Given the description of an element on the screen output the (x, y) to click on. 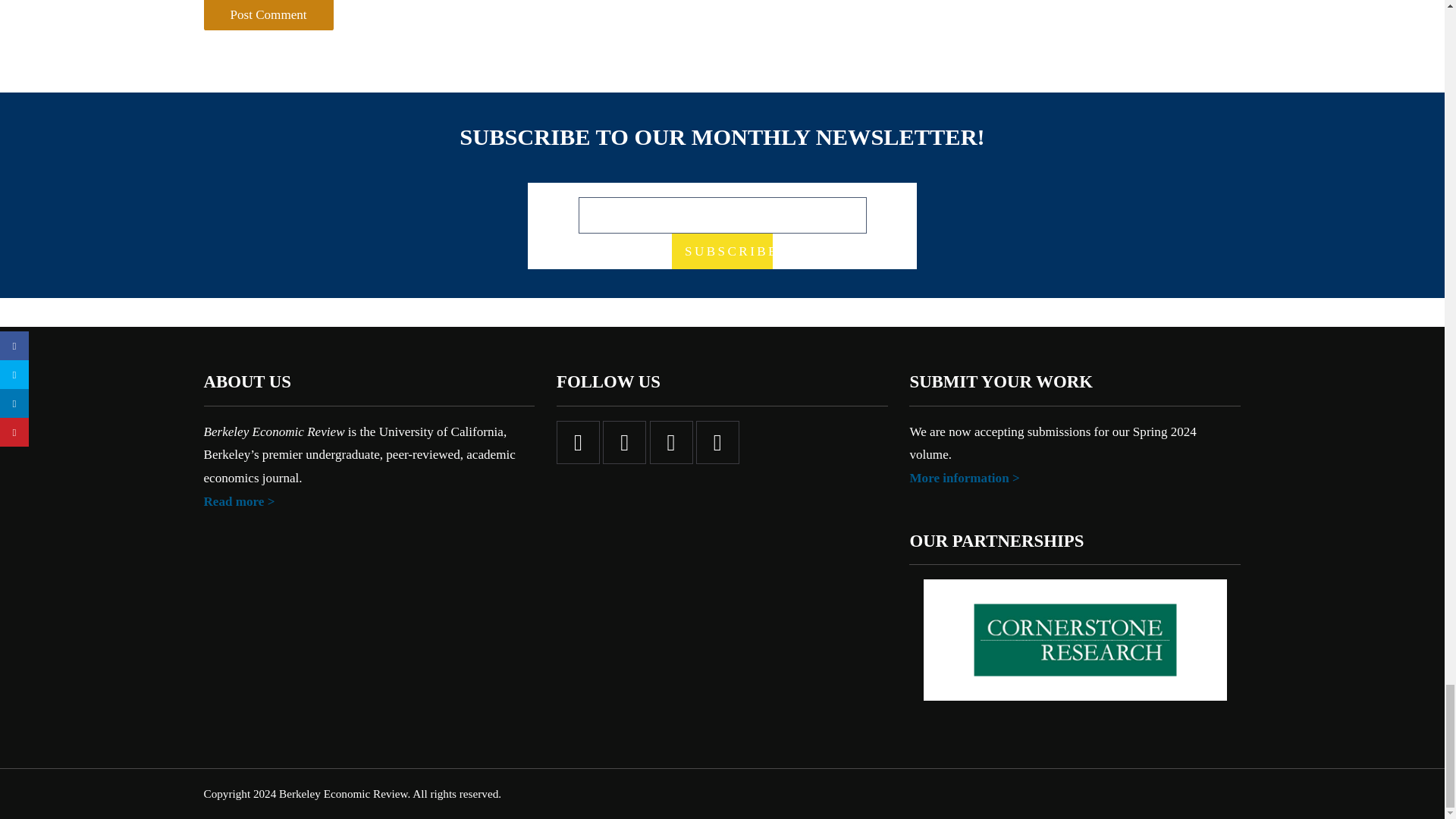
Subscribe (760, 501)
Post Comment (282, 251)
yes (219, 160)
